Given the description of an element on the screen output the (x, y) to click on. 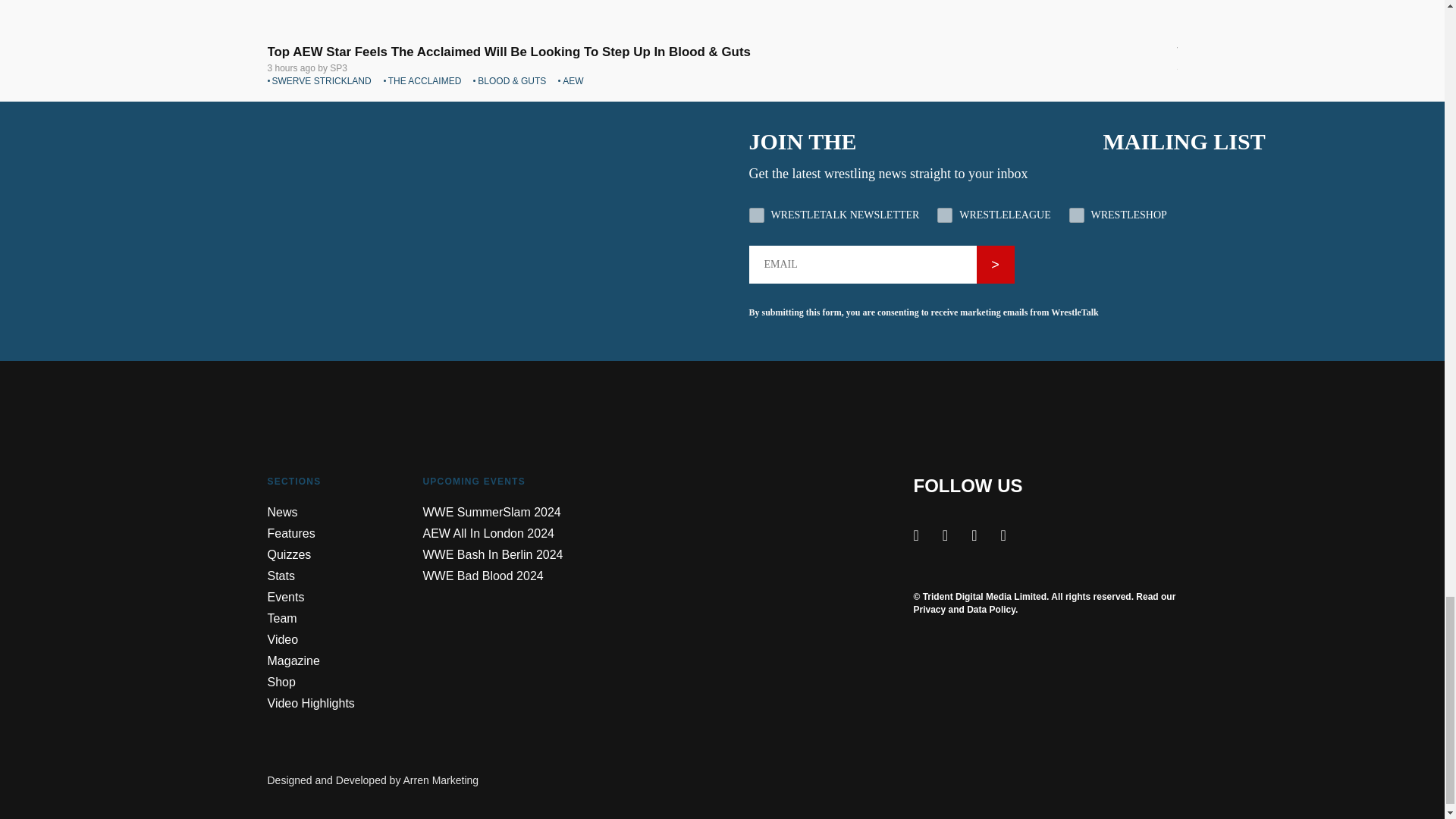
WL (944, 215)
WT (756, 215)
WS (1076, 215)
